Given the description of an element on the screen output the (x, y) to click on. 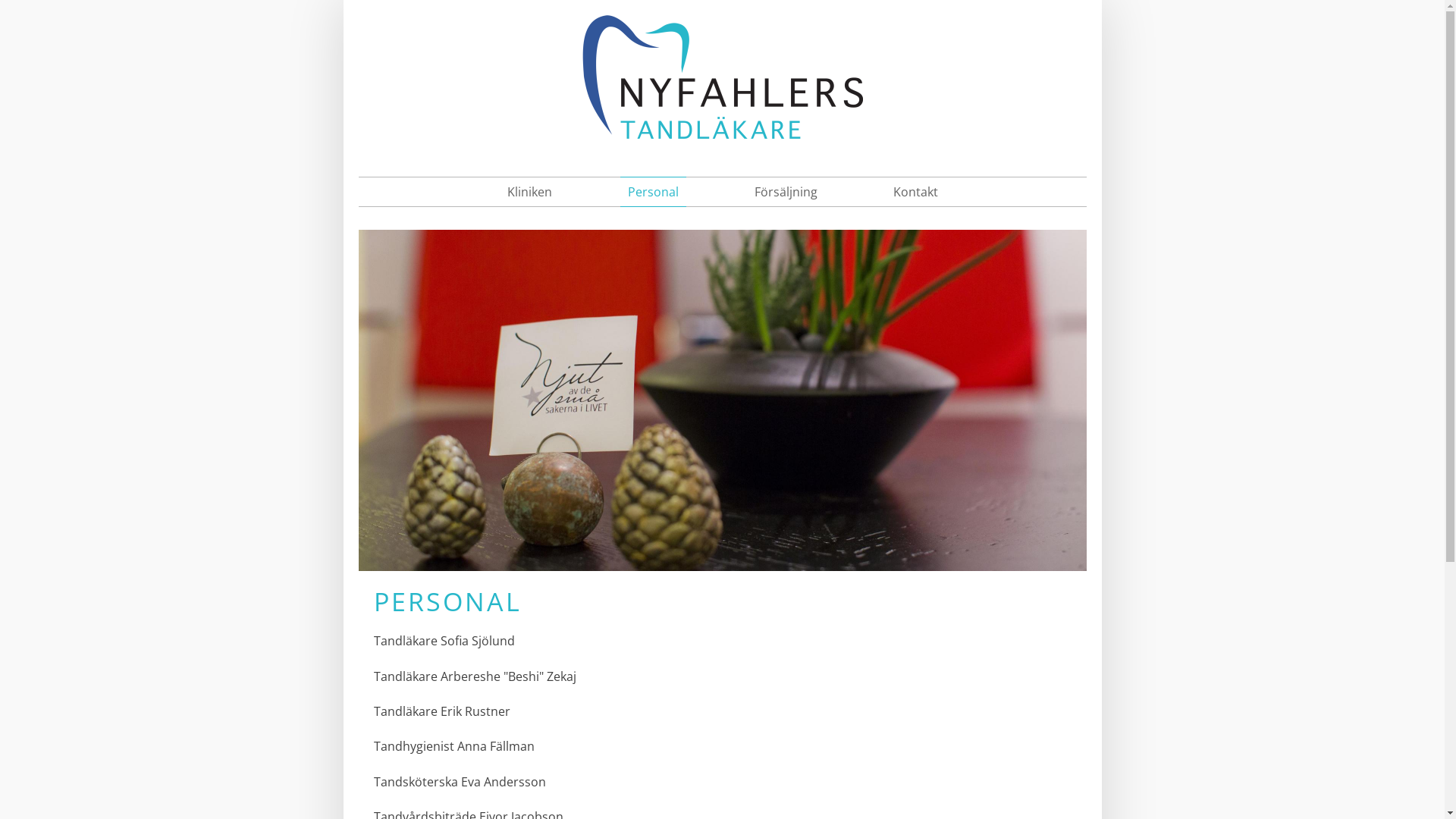
Kliniken Element type: text (528, 191)
Personal Element type: text (653, 191)
Kontakt Element type: text (915, 191)
